Given the description of an element on the screen output the (x, y) to click on. 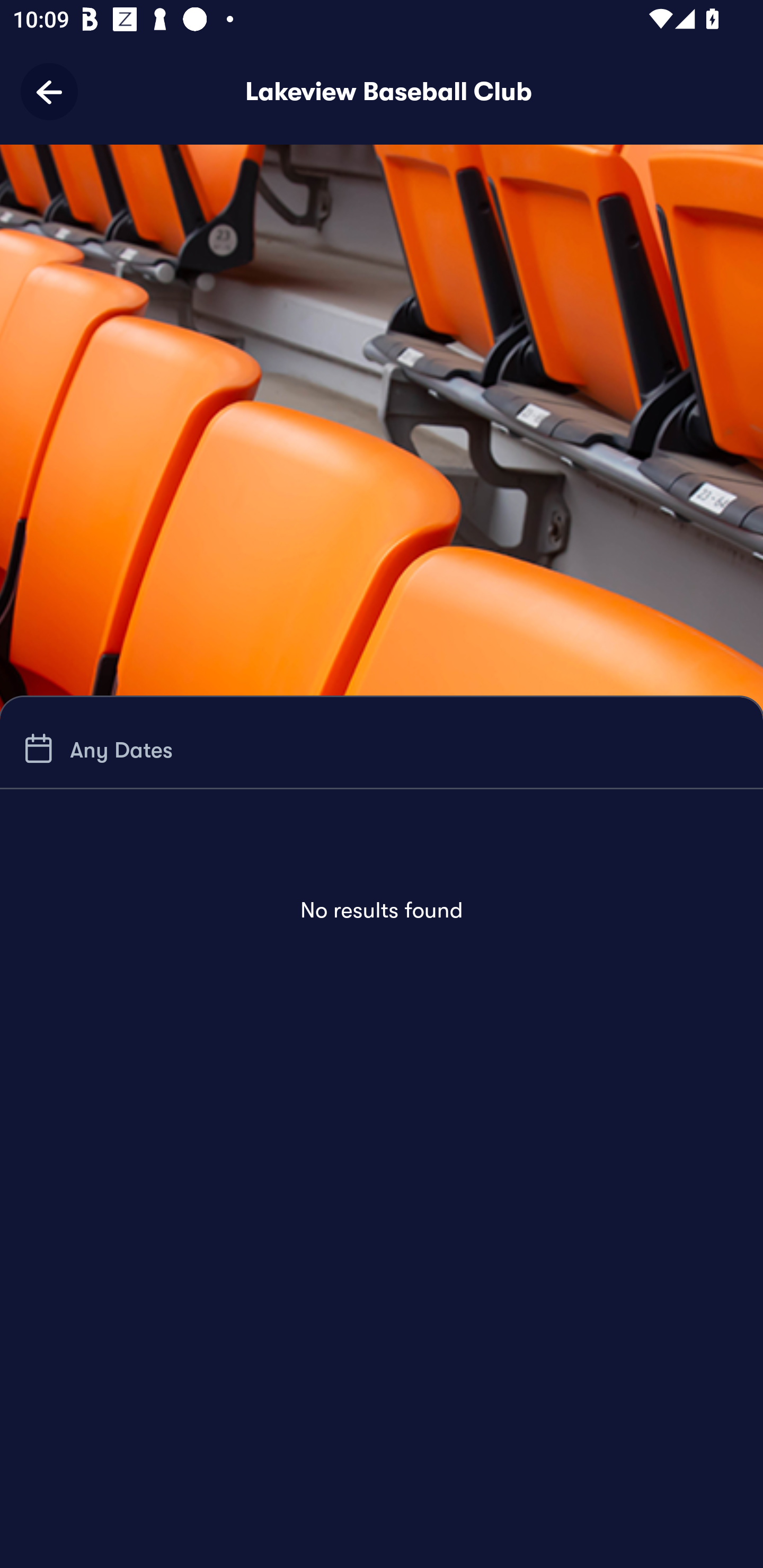
Any Dates (95, 749)
